Given the description of an element on the screen output the (x, y) to click on. 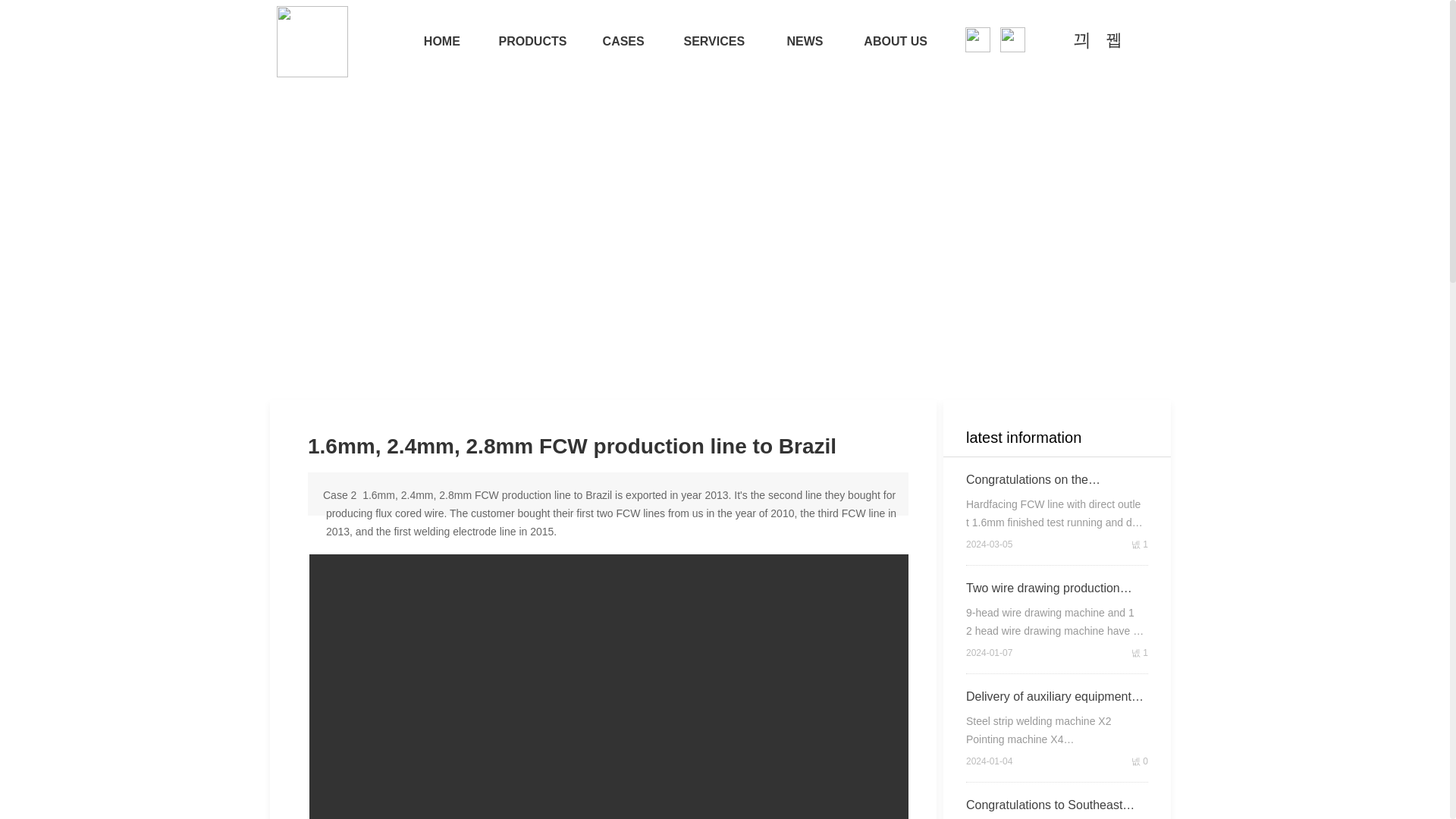
HOME (441, 41)
NEWS (805, 41)
SERVICES (714, 41)
CASES (623, 41)
PRODUCTS (532, 41)
ABOUT US (895, 41)
